Given the description of an element on the screen output the (x, y) to click on. 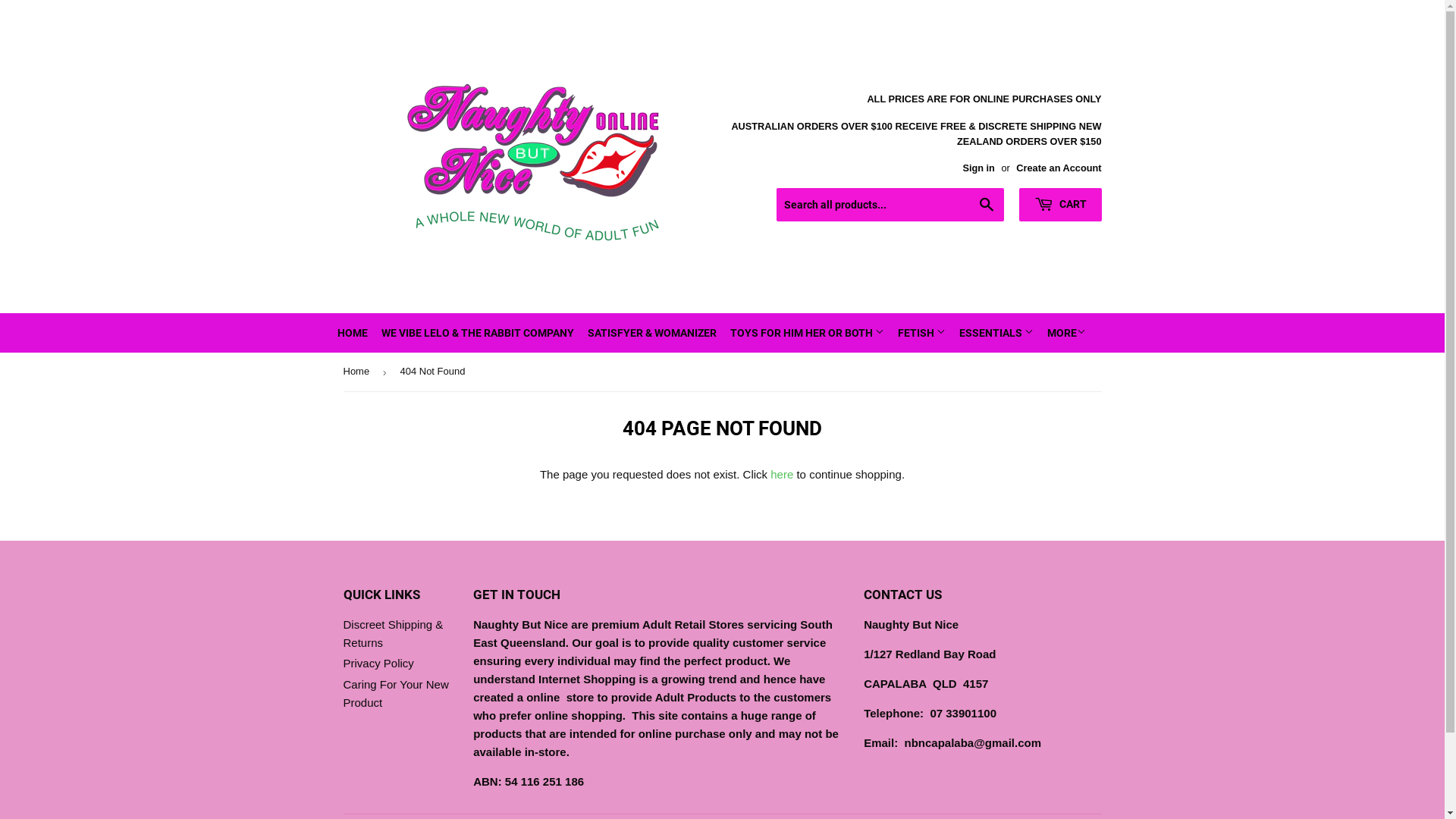
TOYS FOR HIM HER OR BOTH Element type: text (806, 332)
WE VIBE LELO & THE RABBIT COMPANY Element type: text (477, 332)
Caring For Your New Product Element type: text (395, 693)
CART Element type: text (1060, 204)
here Element type: text (781, 473)
Discreet Shipping & Returns Element type: text (392, 633)
MORE Element type: text (1066, 332)
SATISFYER & WOMANIZER Element type: text (651, 332)
FETISH Element type: text (920, 332)
Search Element type: text (986, 205)
ESSENTIALS Element type: text (995, 332)
Sign in Element type: text (978, 167)
HOME Element type: text (352, 332)
Privacy Policy Element type: text (377, 662)
Home Element type: text (358, 371)
Create an Account Element type: text (1058, 167)
